Given the description of an element on the screen output the (x, y) to click on. 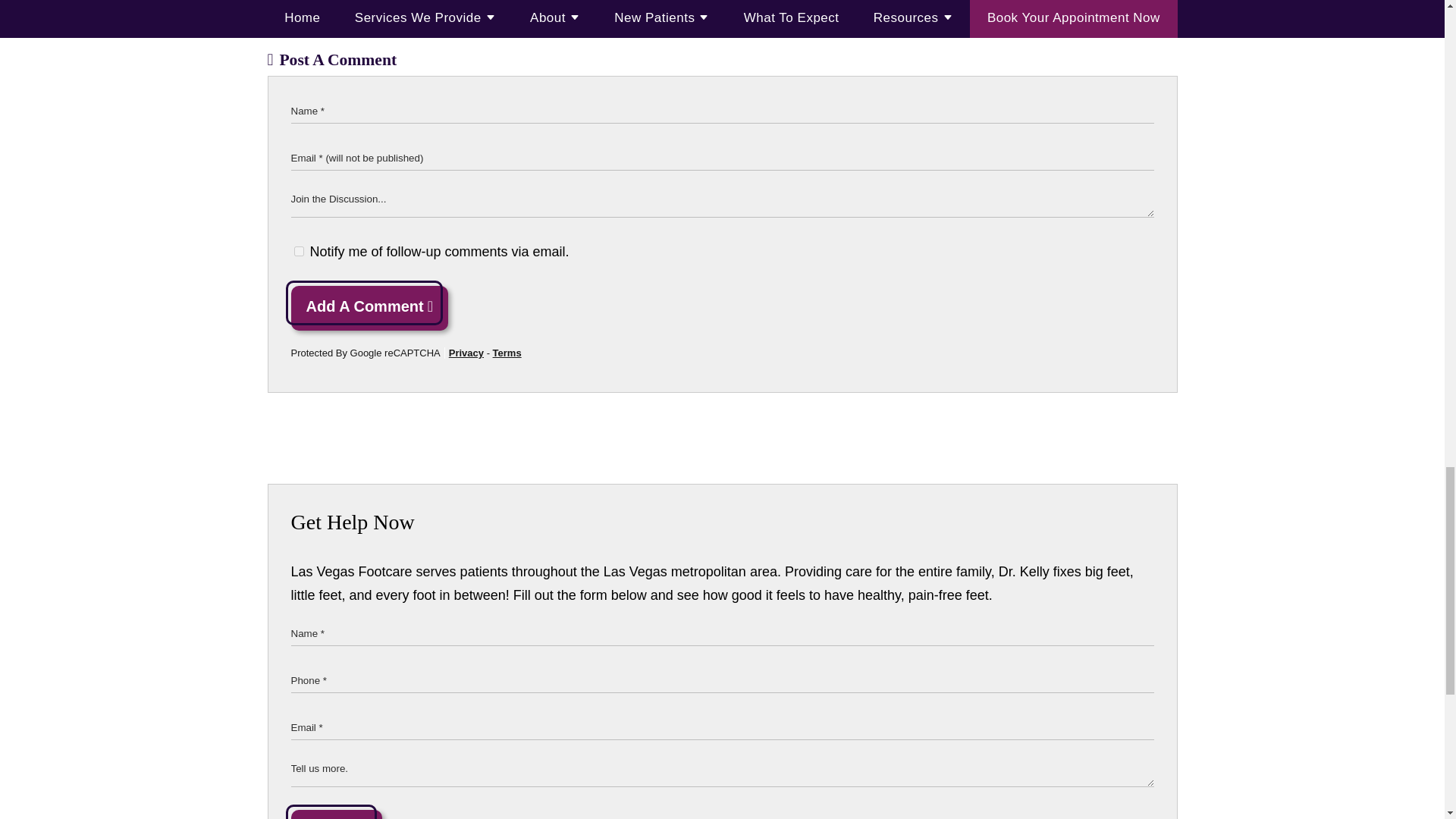
1 (299, 251)
Add A Comment (369, 307)
Contact us today to request an appointment (482, 1)
